Given the description of an element on the screen output the (x, y) to click on. 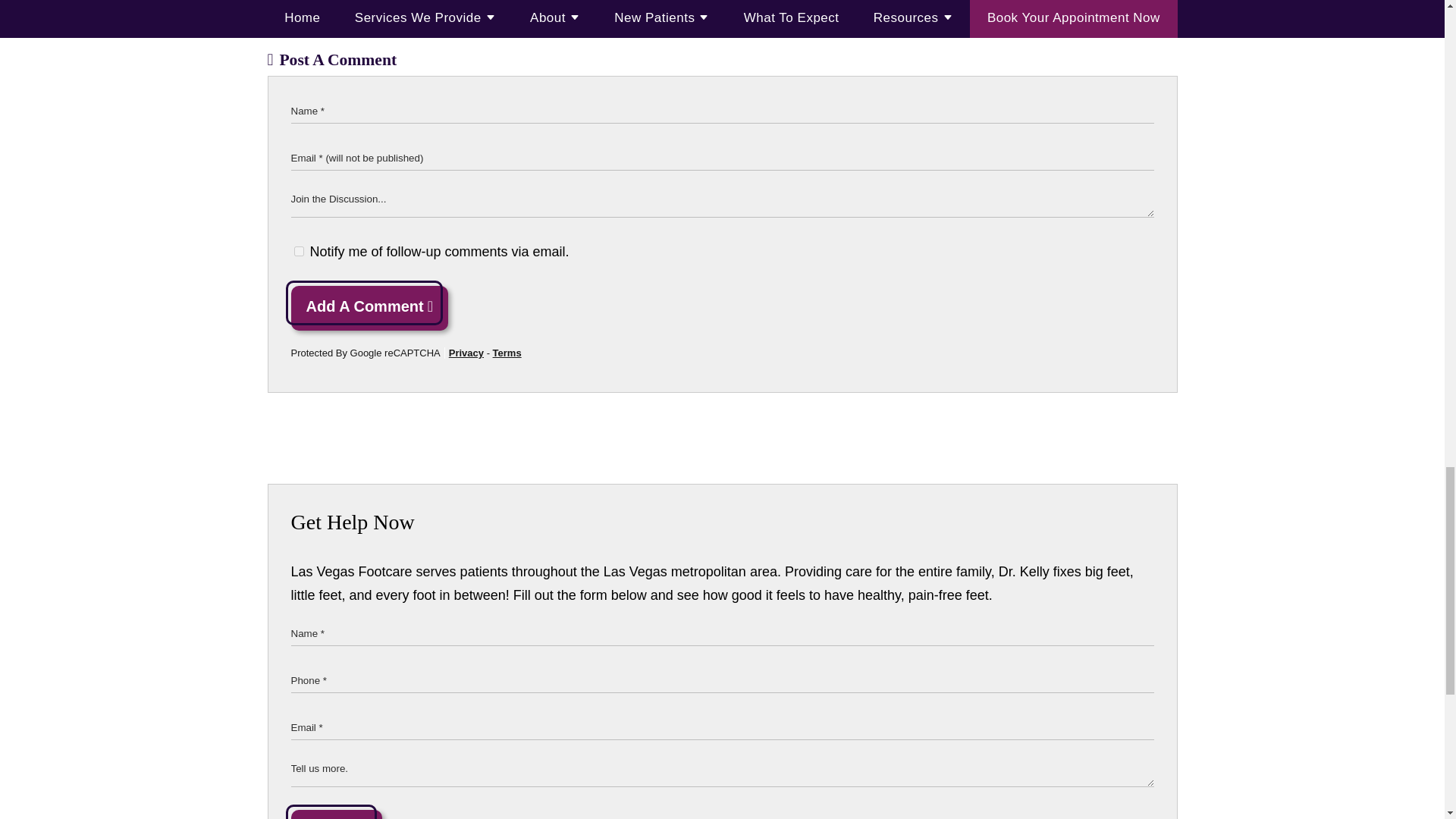
1 (299, 251)
Add A Comment (369, 307)
Contact us today to request an appointment (482, 1)
